Given the description of an element on the screen output the (x, y) to click on. 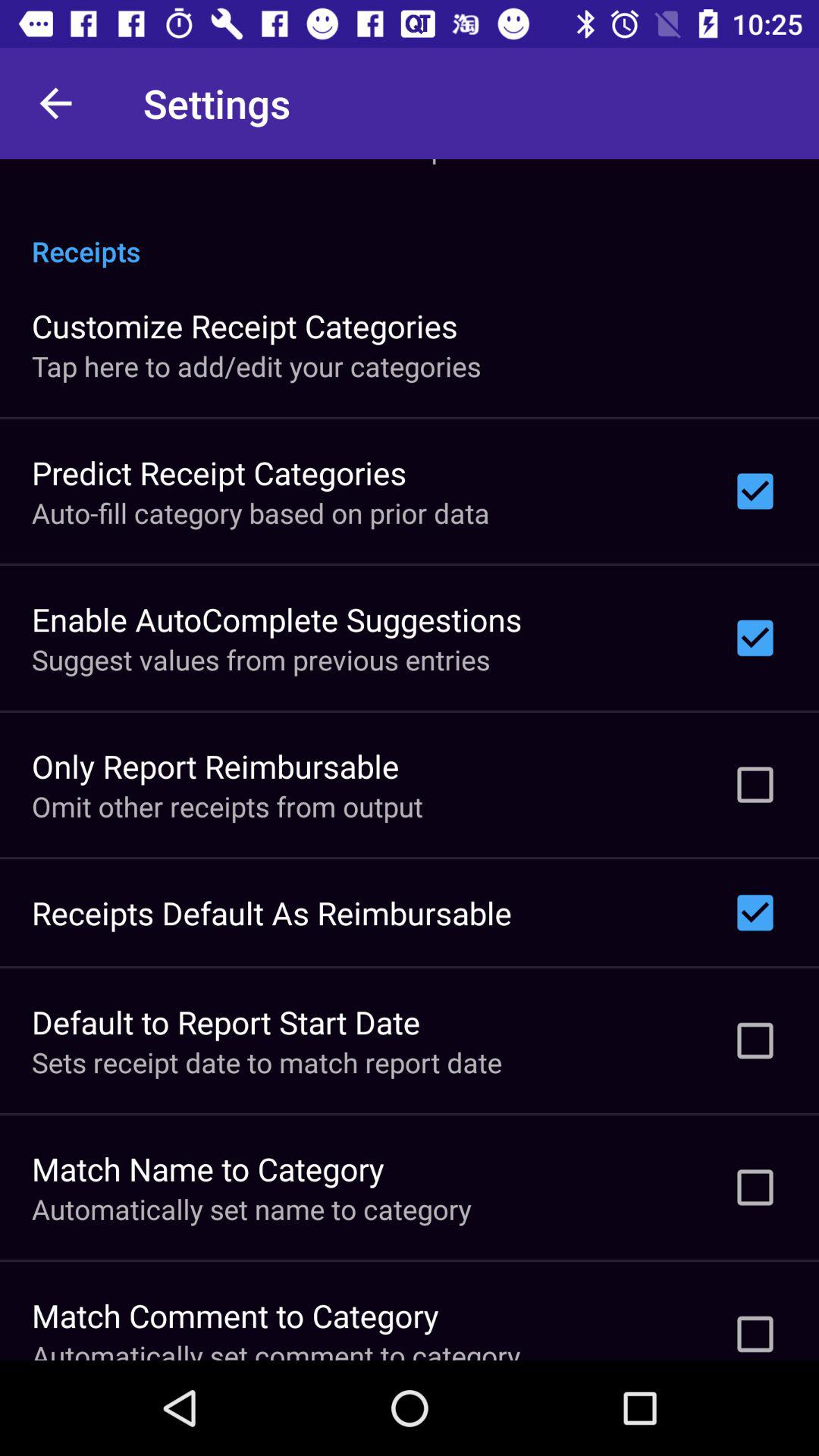
open the icon below the default to report item (266, 1062)
